Given the description of an element on the screen output the (x, y) to click on. 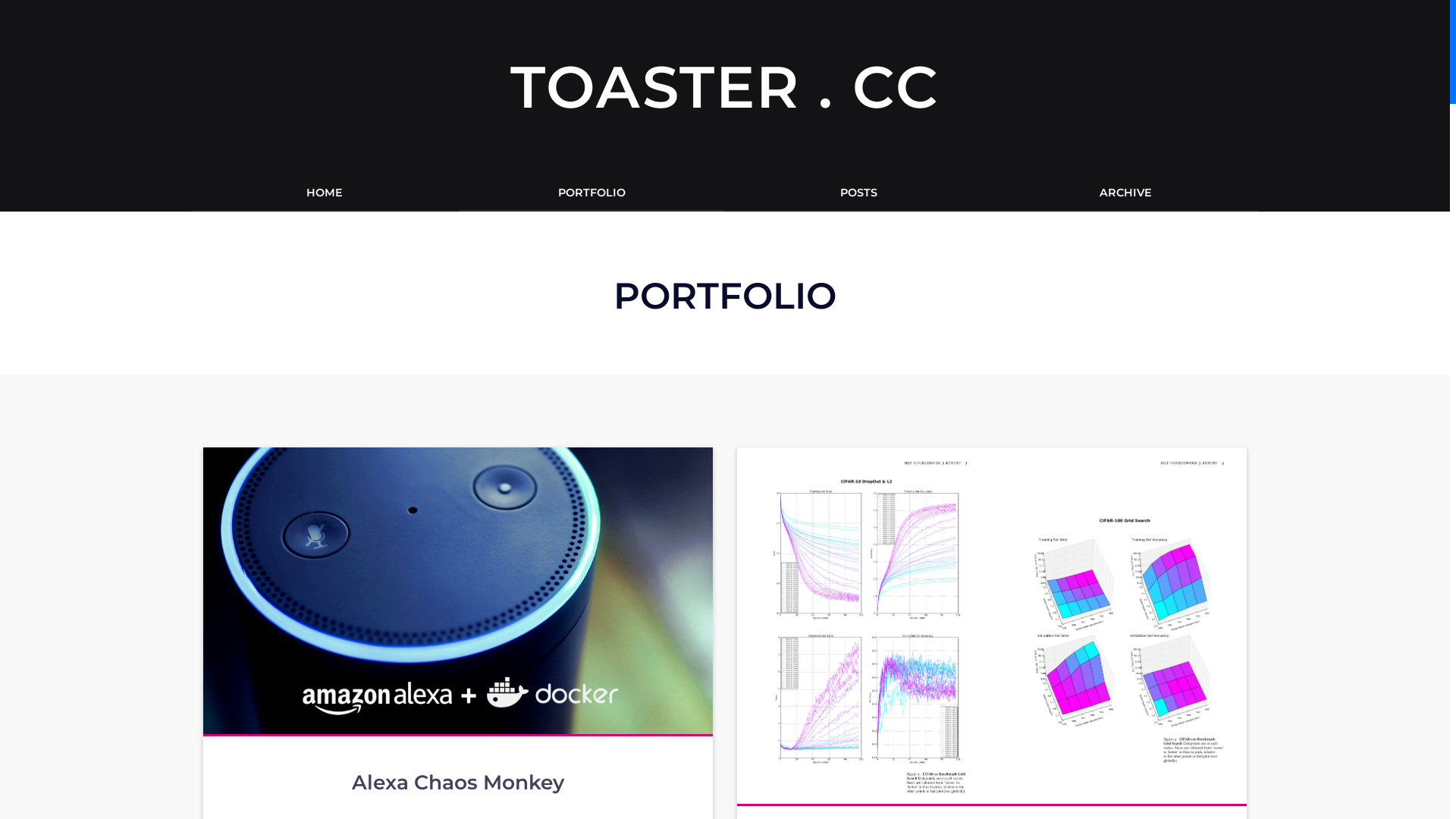
HOME Element type: text (324, 192)
Alexa Chaos Monkey Element type: text (457, 781)
TOASTER . CC Element type: text (725, 86)
PORTFOLIO Element type: text (591, 192)
ARCHIVE Element type: text (1124, 192)
POSTS Element type: text (857, 192)
